Given the description of an element on the screen output the (x, y) to click on. 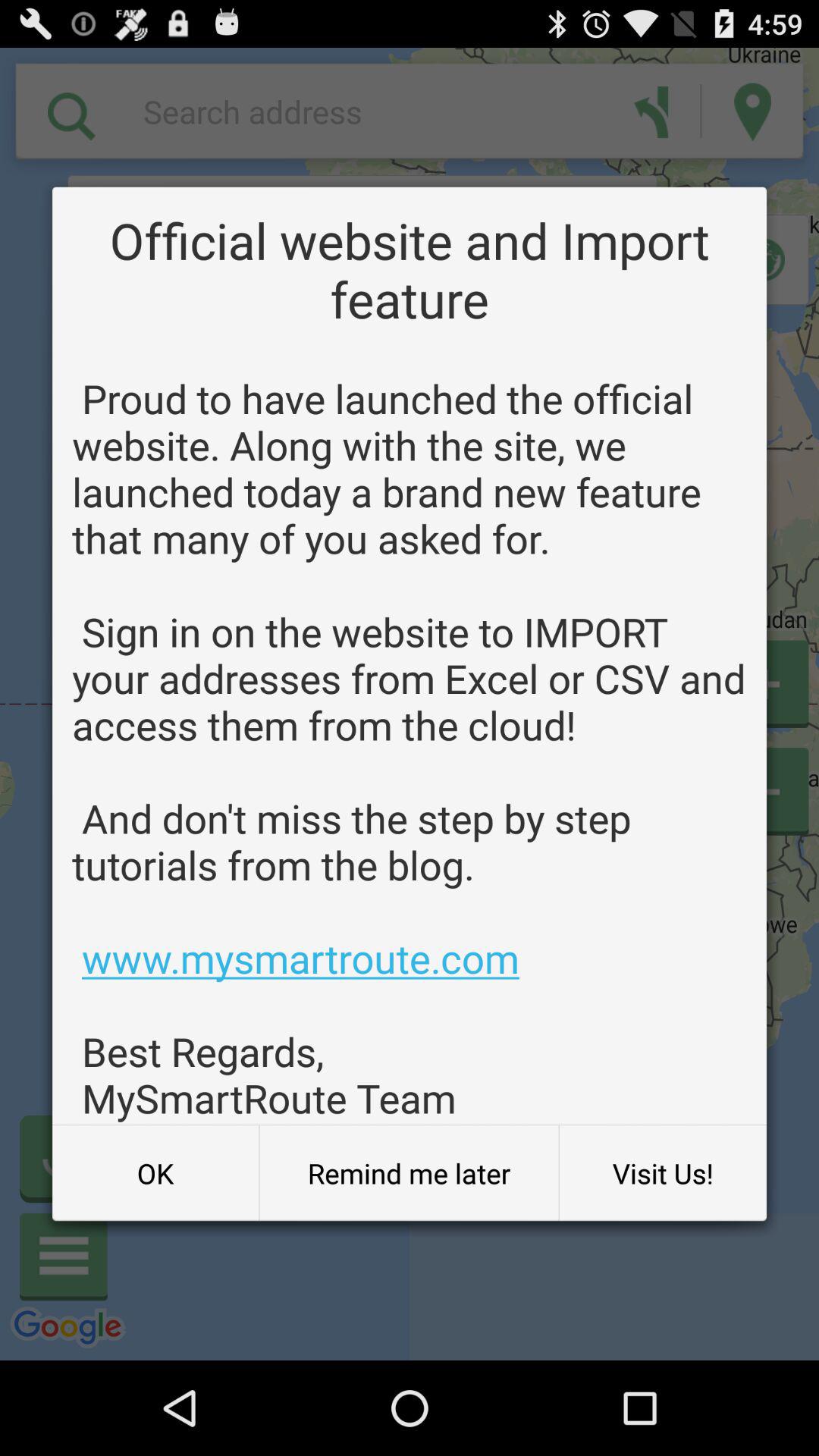
press item below proud to have app (662, 1173)
